Given the description of an element on the screen output the (x, y) to click on. 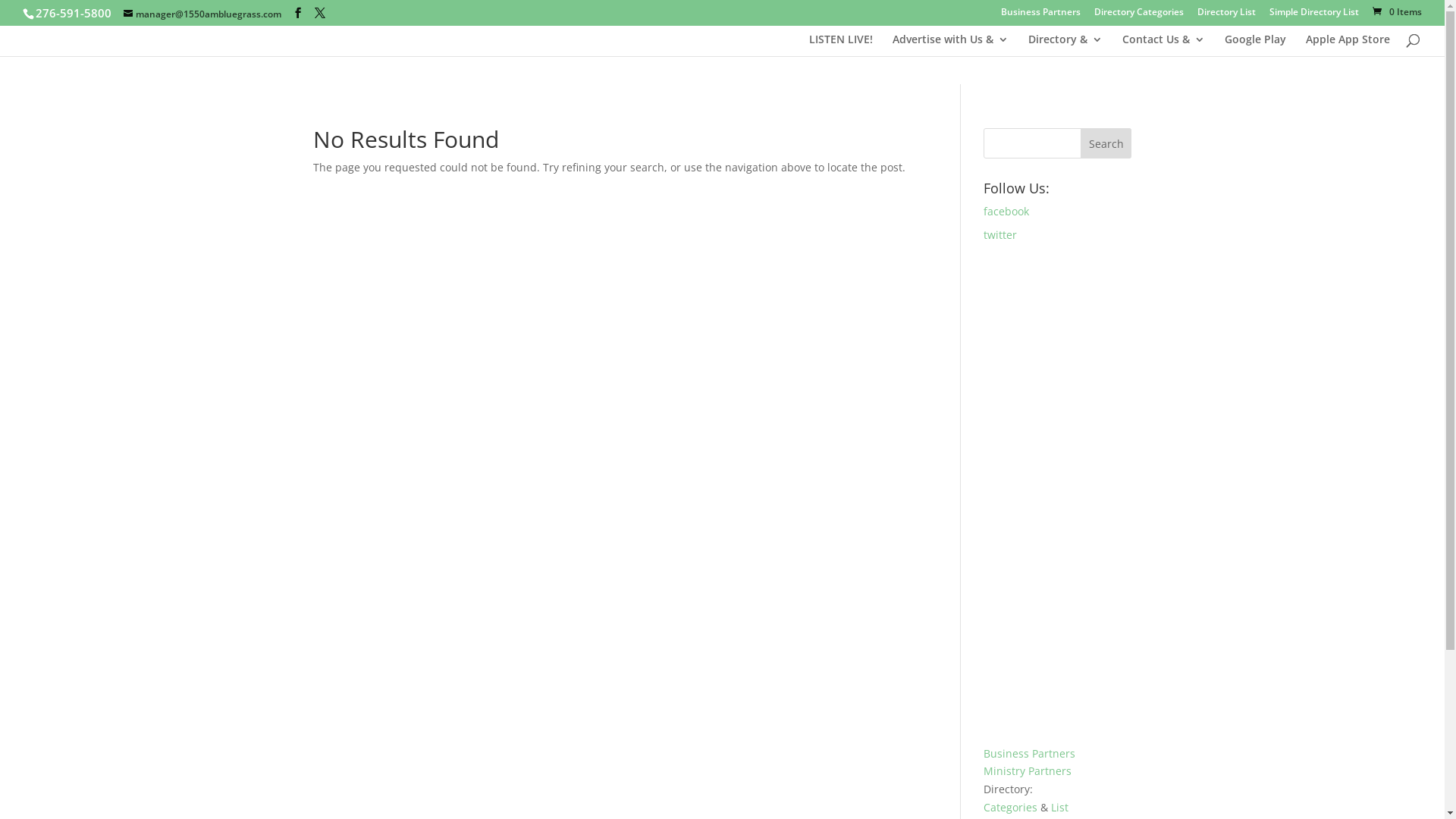
facebook Element type: text (1057, 211)
Business Partners Element type: text (1029, 753)
Directory & Element type: text (1065, 45)
Ministry Partners Element type: text (1027, 770)
Advertise with Us & Element type: text (950, 45)
Directory List Element type: text (1226, 15)
List Element type: text (1059, 807)
Categories Element type: text (1010, 807)
manager@1550ambluegrass.com Element type: text (202, 13)
Simple Directory List Element type: text (1313, 15)
0 Items Element type: text (1395, 11)
Directory Categories Element type: text (1138, 15)
Business Partners Element type: text (1040, 15)
Advertisement Element type: hover (1057, 493)
Google Play Element type: text (1255, 45)
Search Element type: text (1106, 143)
Apple App Store Element type: text (1347, 45)
LISTEN LIVE! Element type: text (840, 45)
twitter Element type: text (1057, 234)
Contact Us & Element type: text (1163, 45)
